Given the description of an element on the screen output the (x, y) to click on. 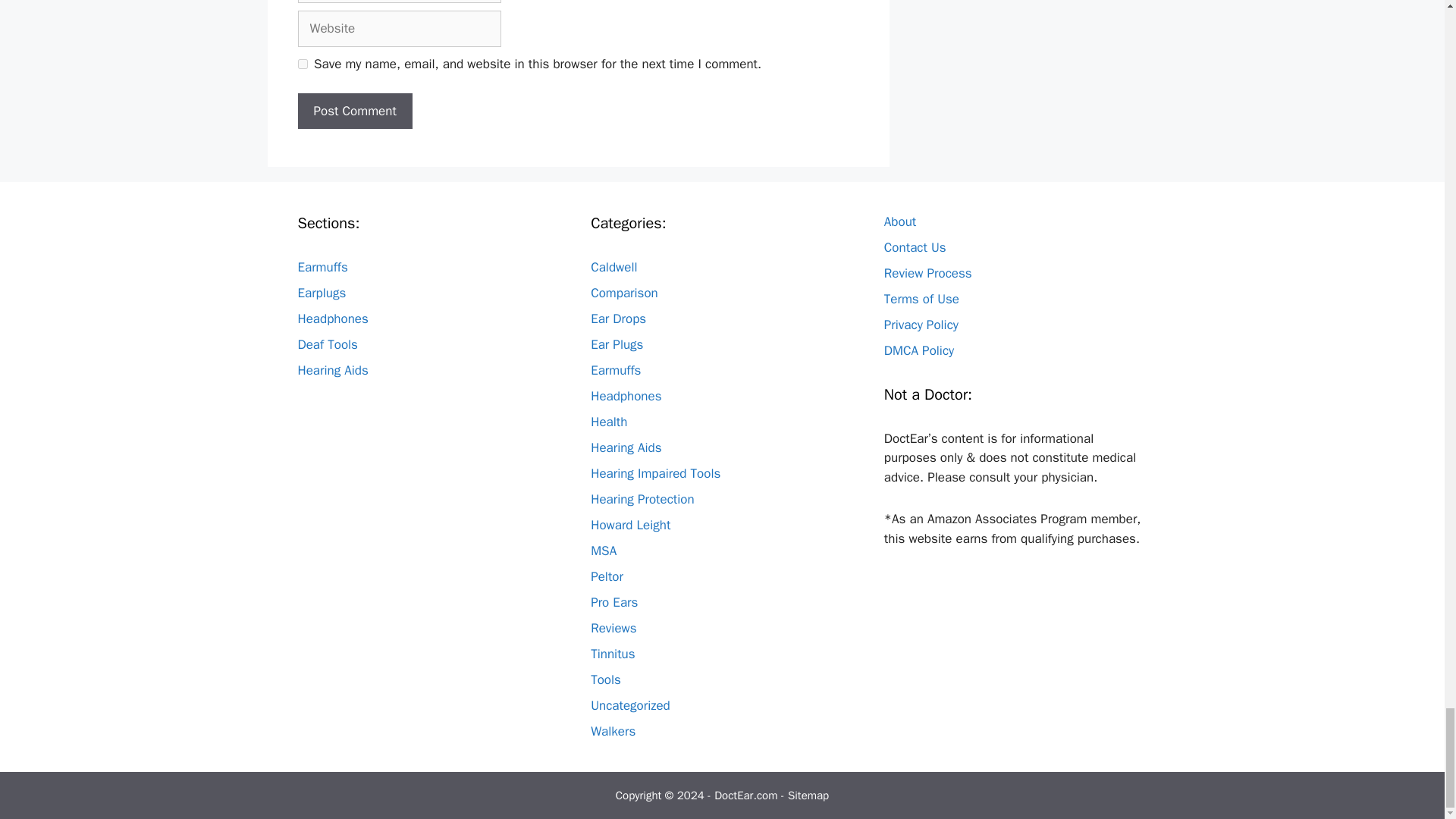
Post Comment (354, 111)
yes (302, 63)
